Given the description of an element on the screen output the (x, y) to click on. 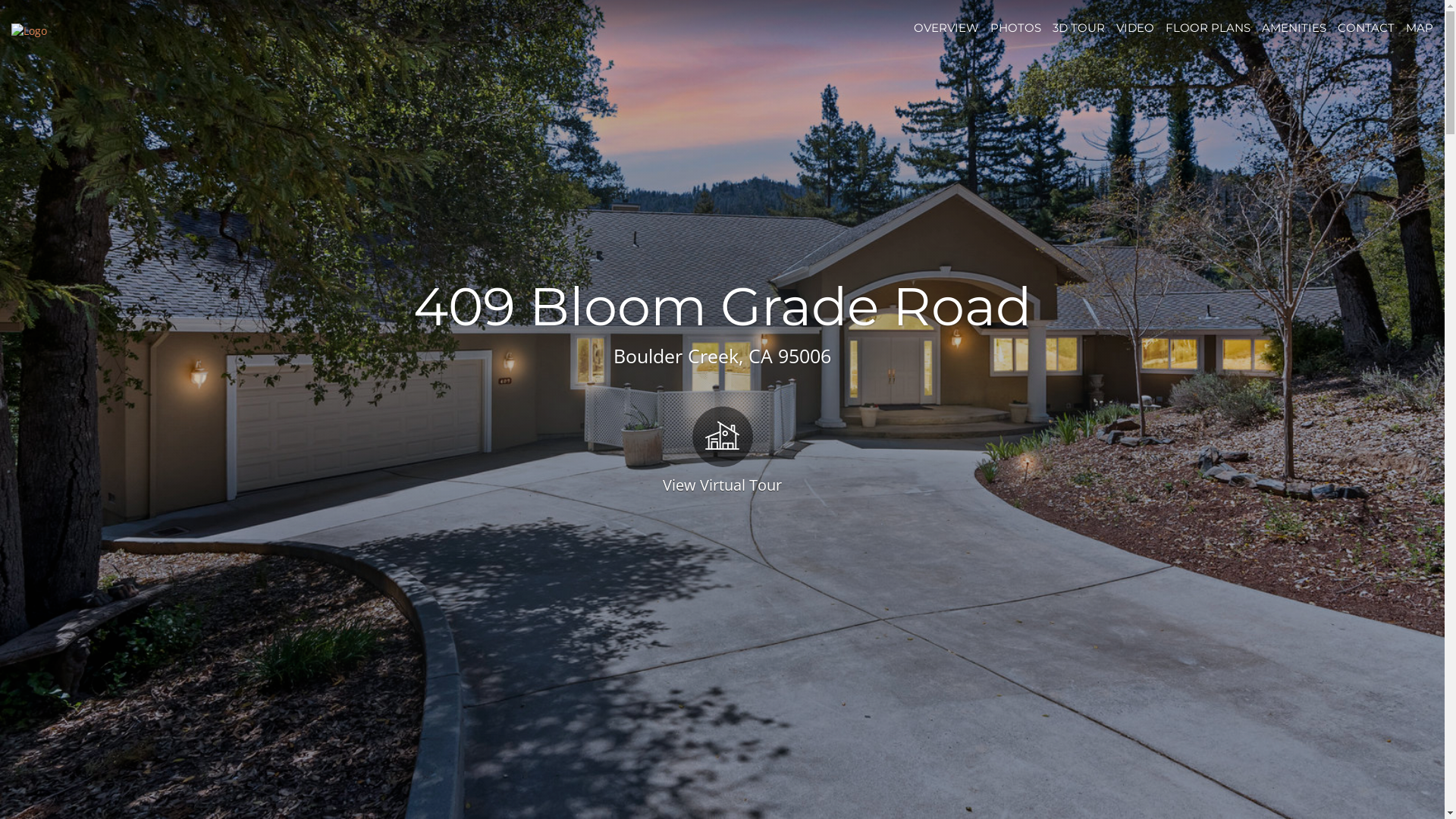
3D TOUR Element type: text (1078, 27)
VIDEO Element type: text (1135, 27)
PHOTOS Element type: text (1015, 27)
View Virtual Tour Element type: text (722, 448)
OVERVIEW Element type: text (946, 27)
AMENITIES Element type: text (1293, 27)
MAP Element type: text (1419, 27)
CONTACT Element type: text (1365, 27)
FLOOR PLANS Element type: text (1207, 27)
